Given the description of an element on the screen output the (x, y) to click on. 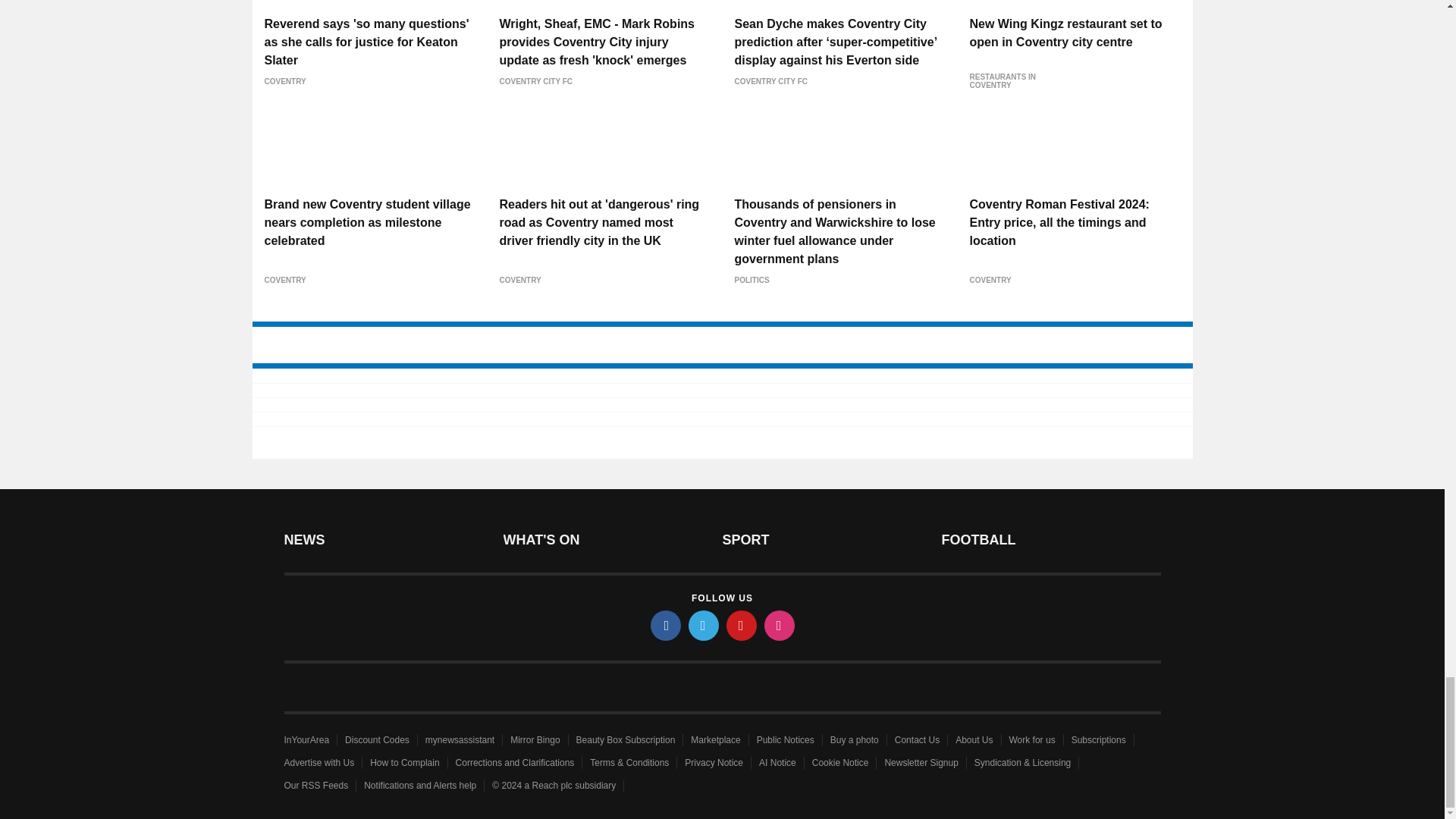
instagram (779, 625)
pinterest (741, 625)
twitter (703, 625)
facebook (665, 625)
